Given the description of an element on the screen output the (x, y) to click on. 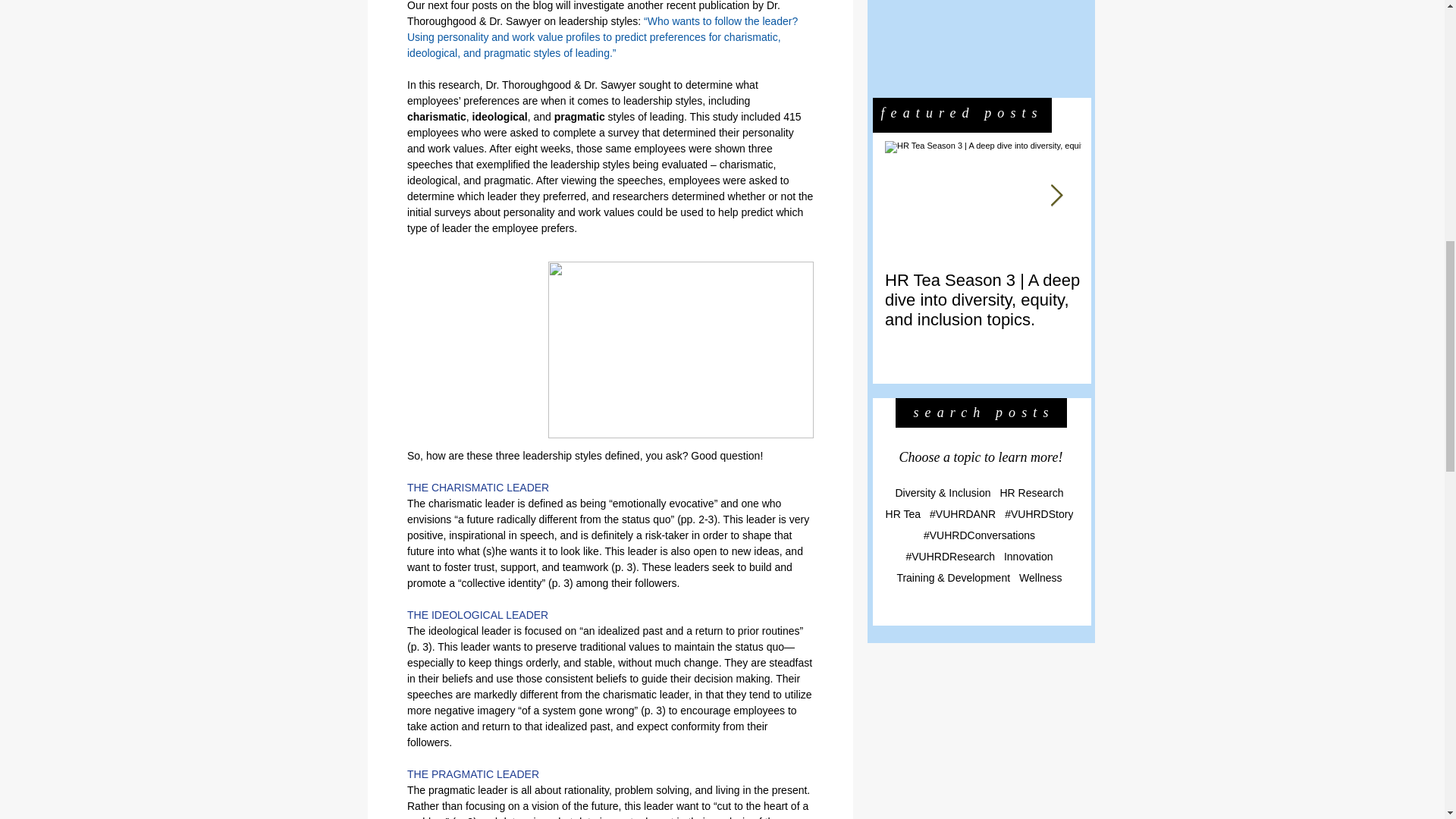
Wellness (1040, 577)
HR Tea (902, 513)
Innovation (1028, 556)
HR Research (1030, 492)
